Given the description of an element on the screen output the (x, y) to click on. 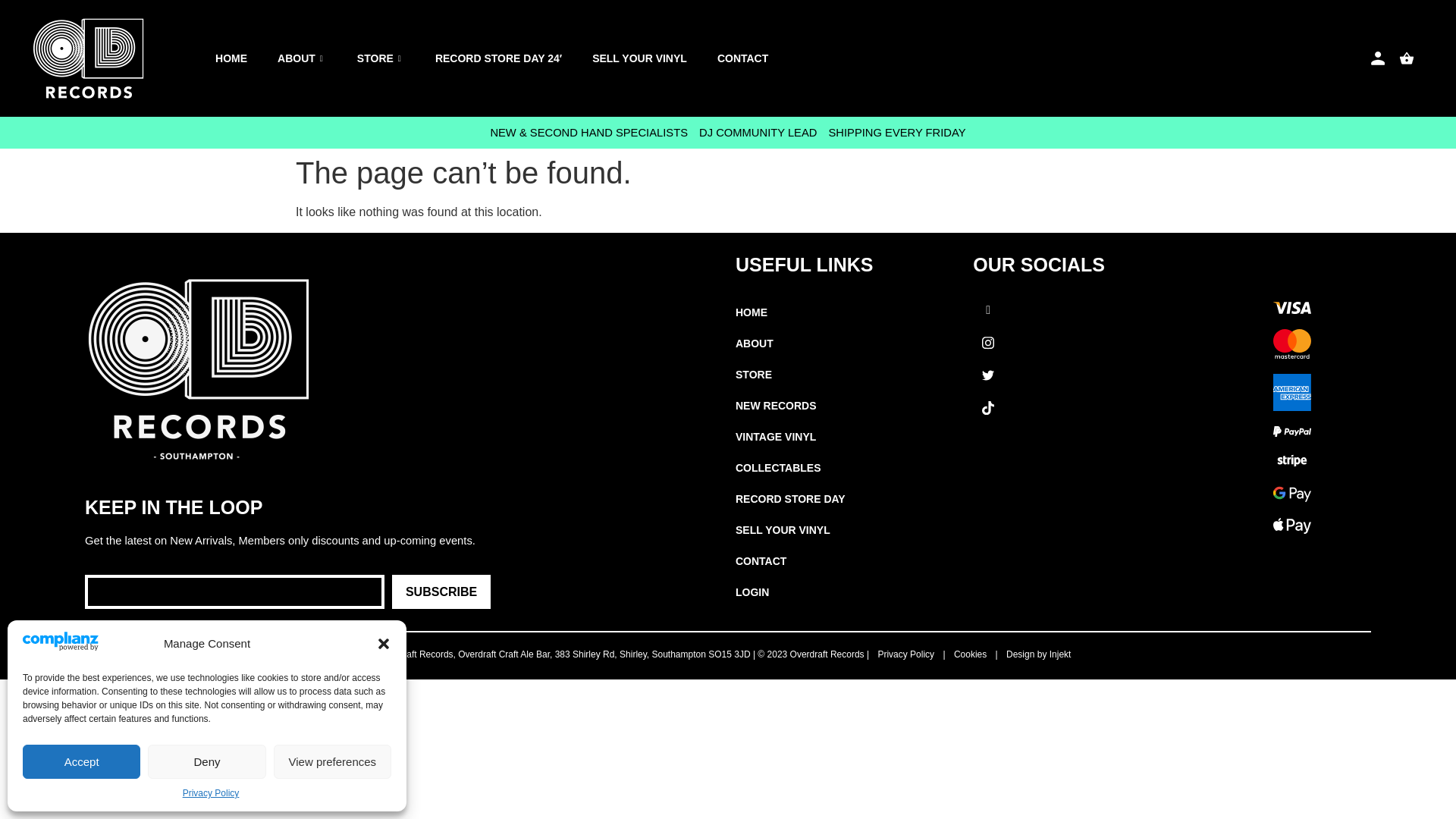
SELL YOUR VINYL (654, 57)
ABOUT (317, 57)
Deny (206, 761)
STORE (395, 57)
Accept (81, 761)
HOME (246, 57)
View preferences (332, 761)
CONTACT (757, 57)
Privacy Policy (211, 793)
